Given the description of an element on the screen output the (x, y) to click on. 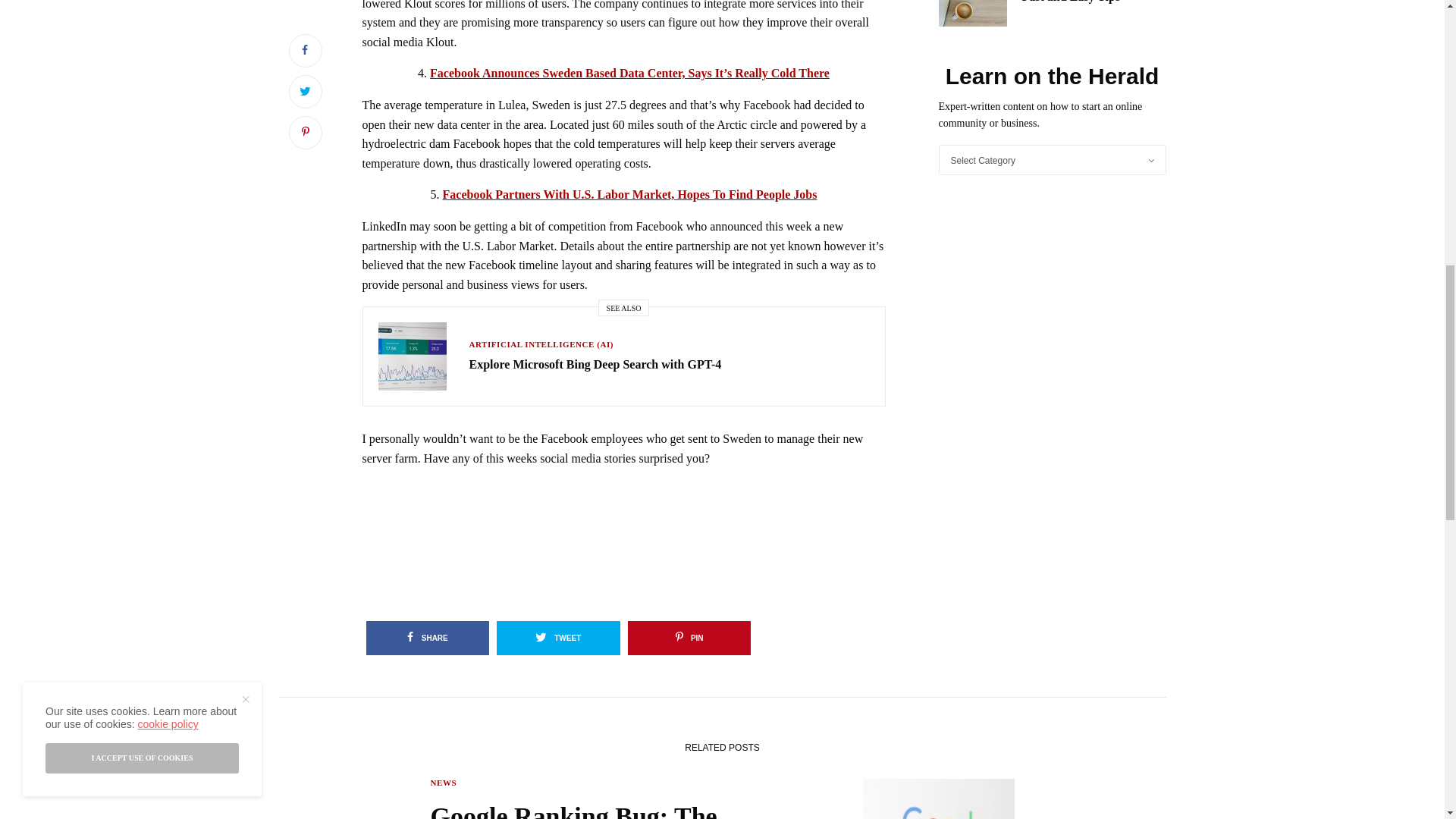
Explore Microsoft Bing Deep Search with GPT-4 (594, 364)
Blogging for Beginners: Fast and Easy Tips (1094, 2)
PIN (689, 637)
Google Ranking Bug: The Weekend Mystery Unveiled (617, 808)
SHARE (427, 637)
Explore Microsoft Bing Deep Search with GPT-4 (594, 364)
TWEET (558, 637)
